Given the description of an element on the screen output the (x, y) to click on. 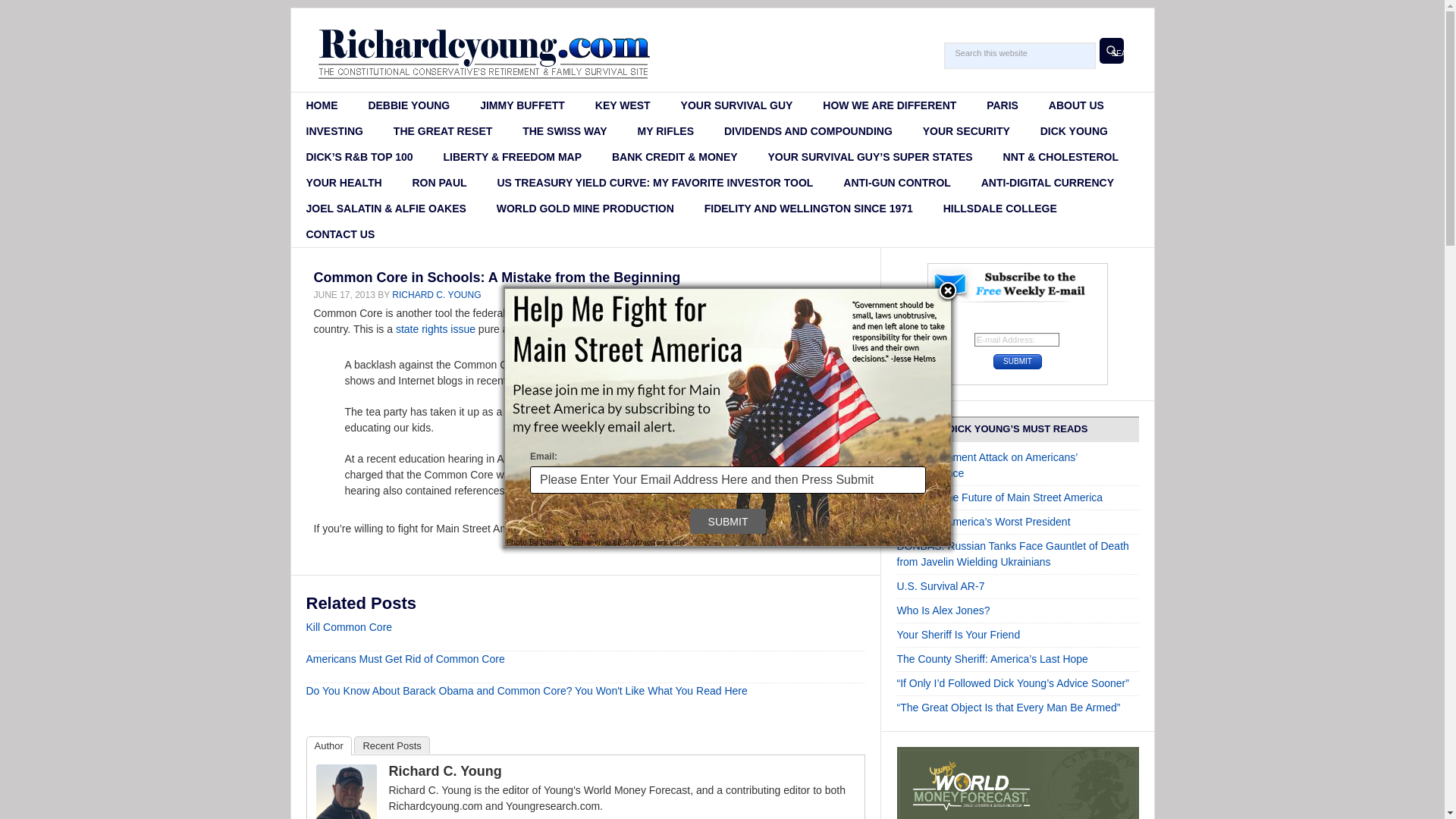
ABOUT US (1076, 104)
Submit (1017, 361)
YOUR SECURITY (966, 130)
Search (1111, 50)
Richard C. Young (345, 815)
CONTACT US (340, 234)
US TREASURY YIELD CURVE: MY FAVORITE INVESTOR TOOL (654, 182)
click here to sign up for my free weekly email (643, 528)
YOUR SURVIVAL GUY (736, 104)
Search (1111, 50)
DICK YOUNG (1073, 130)
DEBBIE YOUNG (408, 104)
Search (1111, 50)
ANTI-GUN CONTROL (897, 182)
Americans Must Get Rid of Common Core (405, 658)
